Given the description of an element on the screen output the (x, y) to click on. 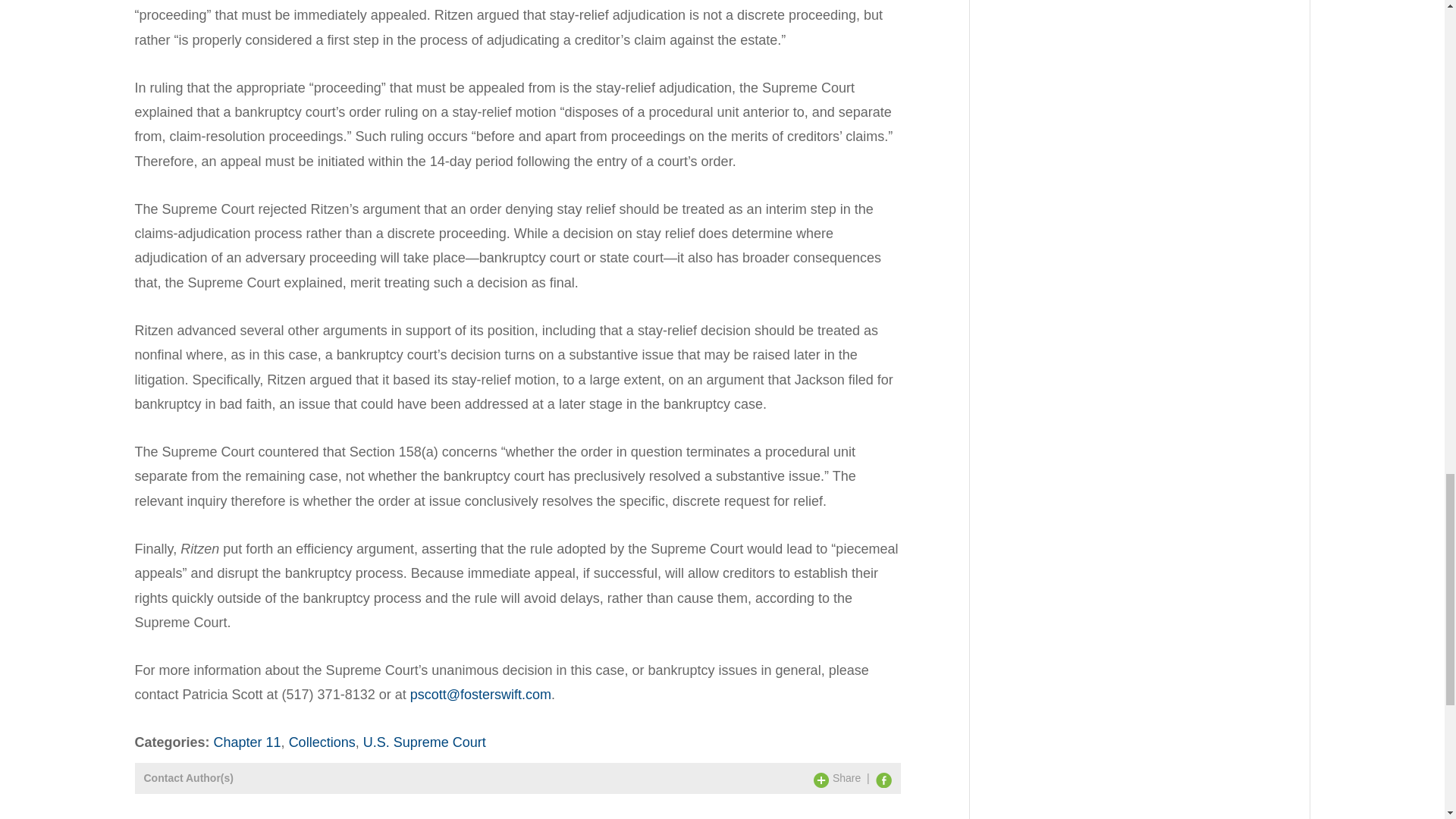
Chapter 11 (247, 742)
Share (836, 778)
Collections (321, 742)
Patricia Email (480, 694)
U.S. Supreme Court (424, 742)
